Given the description of an element on the screen output the (x, y) to click on. 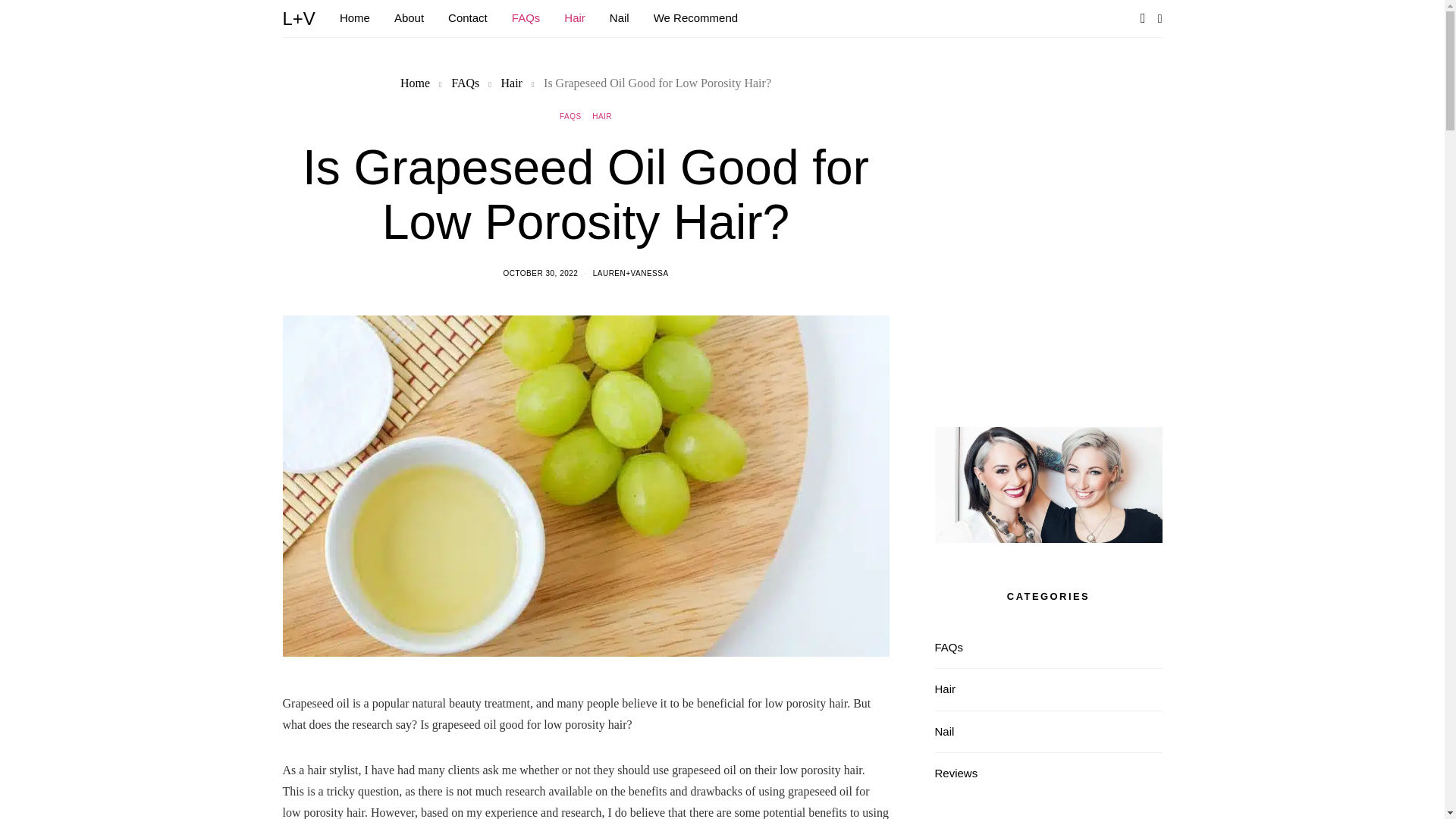
FAQS (569, 116)
Contact (467, 18)
Home (414, 82)
Hair (510, 82)
We Recommend (695, 18)
OCTOBER 30, 2022 (540, 273)
HAIR (601, 116)
FAQs (465, 82)
